Given the description of an element on the screen output the (x, y) to click on. 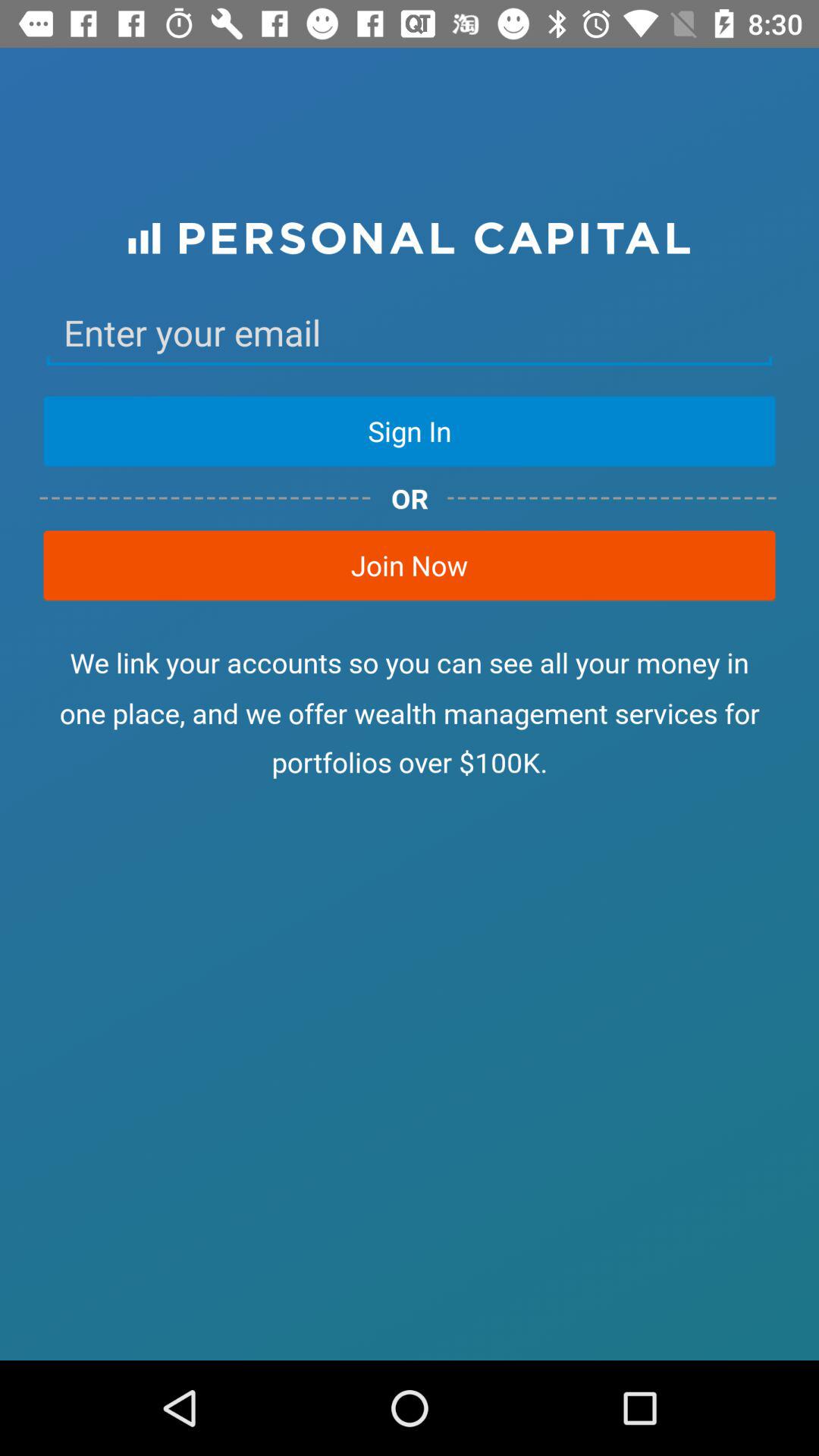
select item below or item (409, 565)
